Given the description of an element on the screen output the (x, y) to click on. 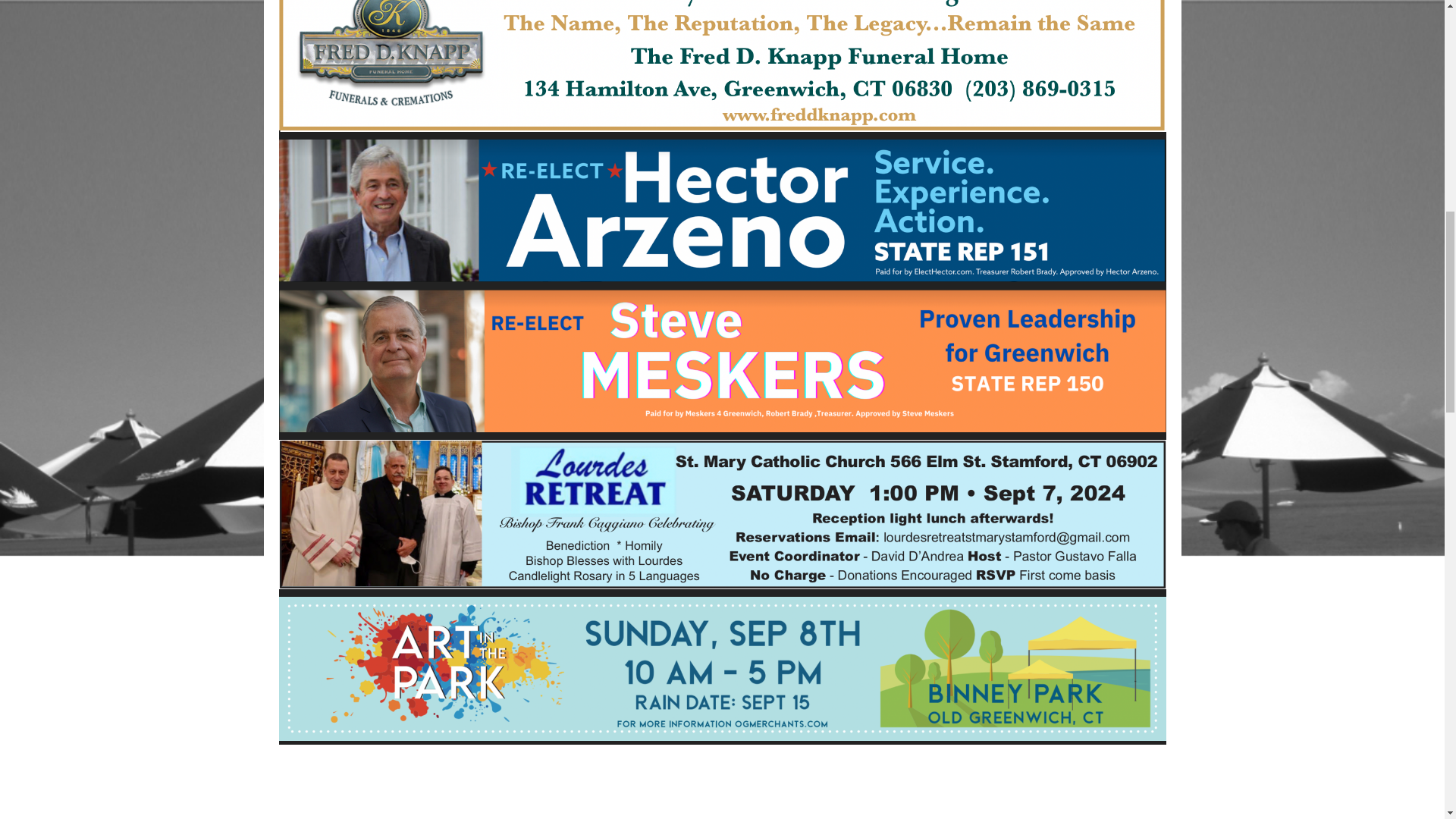
Meskers - proven leadership, August (722, 360)
Re-Elect Hector Arzeno State Rep District 151 (722, 210)
Fred D Knapp Funeral Home (722, 67)
